Given the description of an element on the screen output the (x, y) to click on. 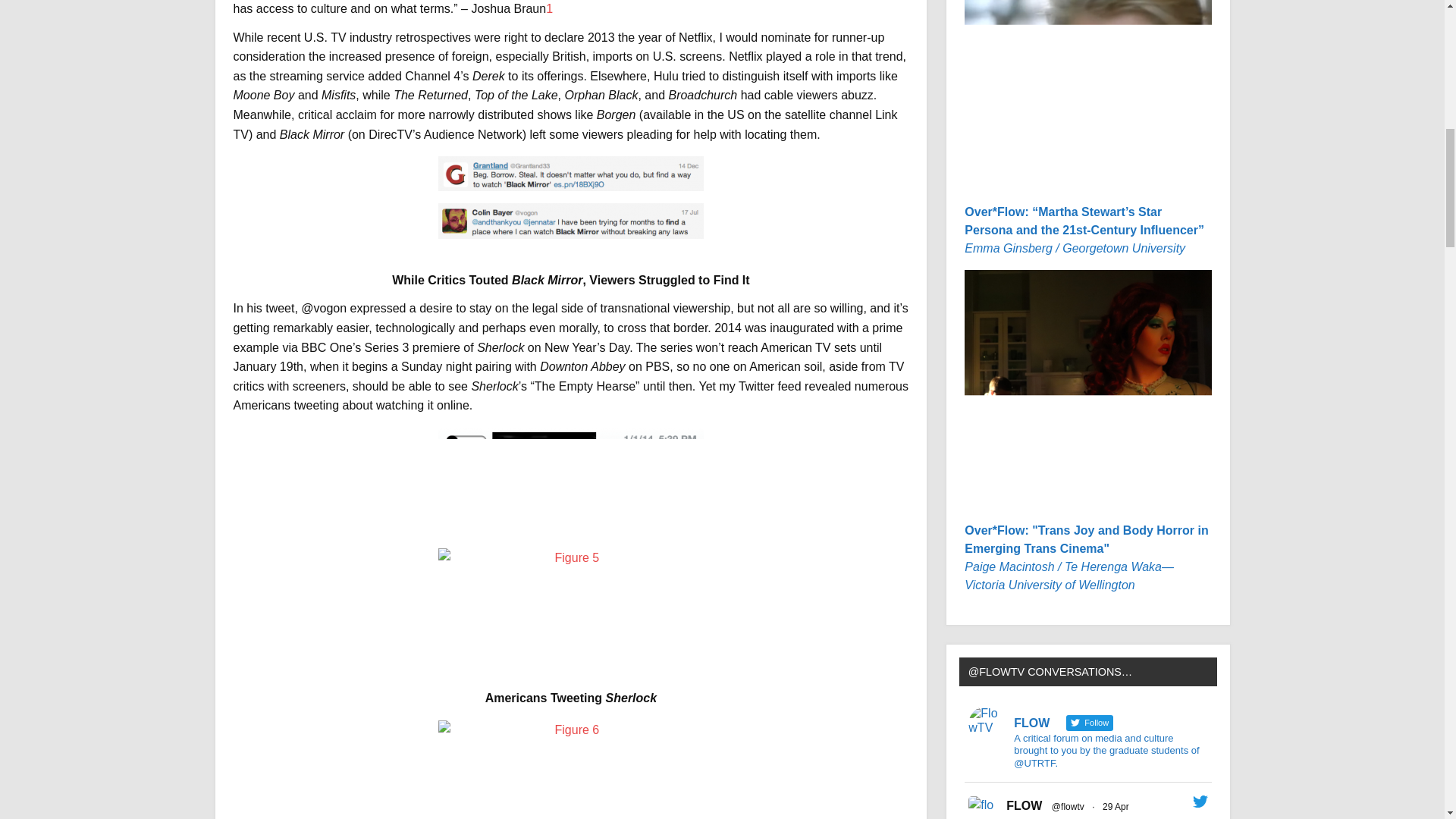
Figure 4 (570, 465)
Figure 5 (570, 602)
Figure 2 (570, 173)
Figure 6 (570, 769)
Figure 3 (570, 221)
